Given the description of an element on the screen output the (x, y) to click on. 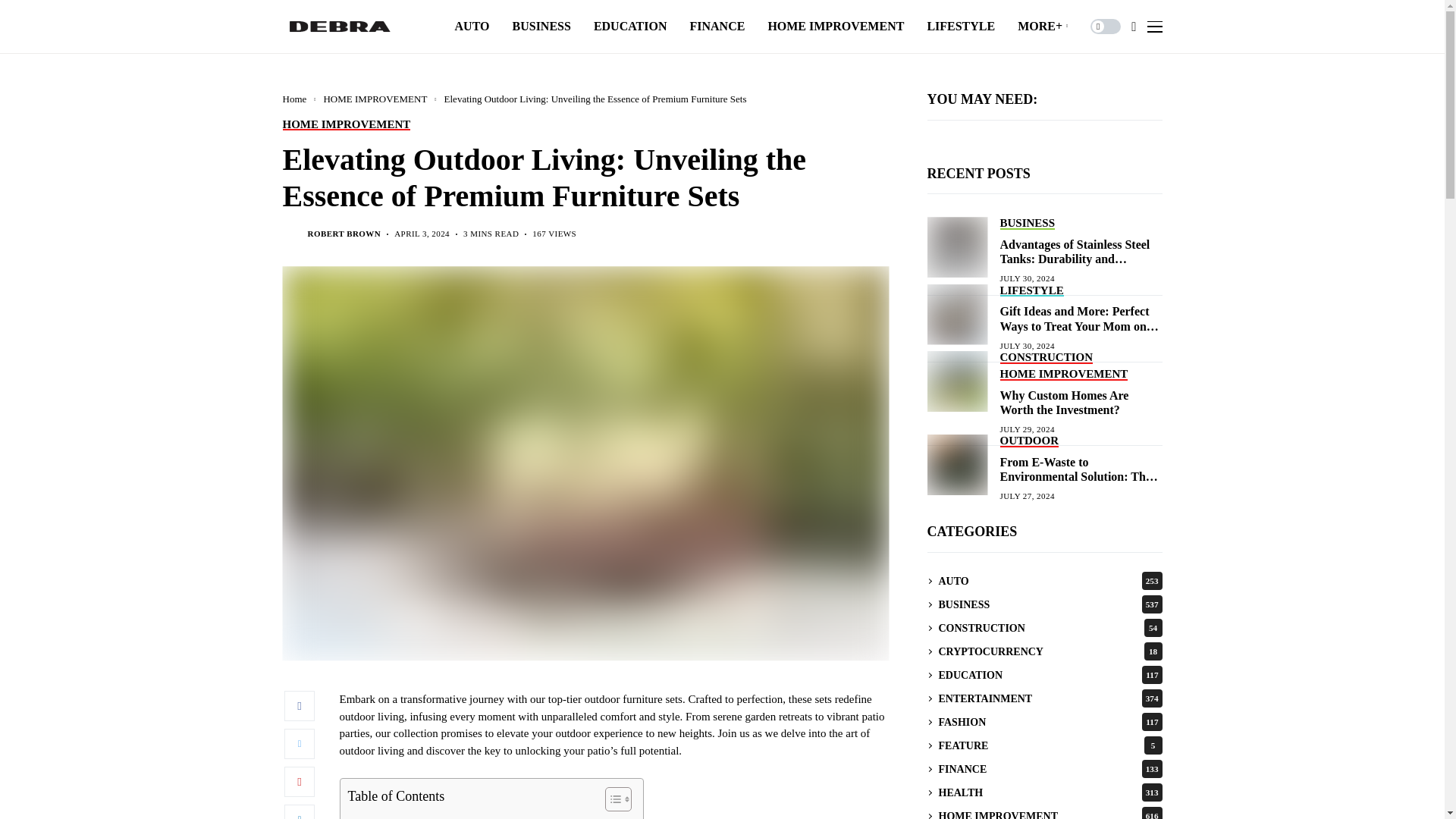
FINANCE (716, 26)
BUSINESS (541, 26)
HOME IMPROVEMENT (835, 26)
LIFESTYLE (960, 26)
Posts by Robert Brown (344, 234)
EDUCATION (630, 26)
